Given the description of an element on the screen output the (x, y) to click on. 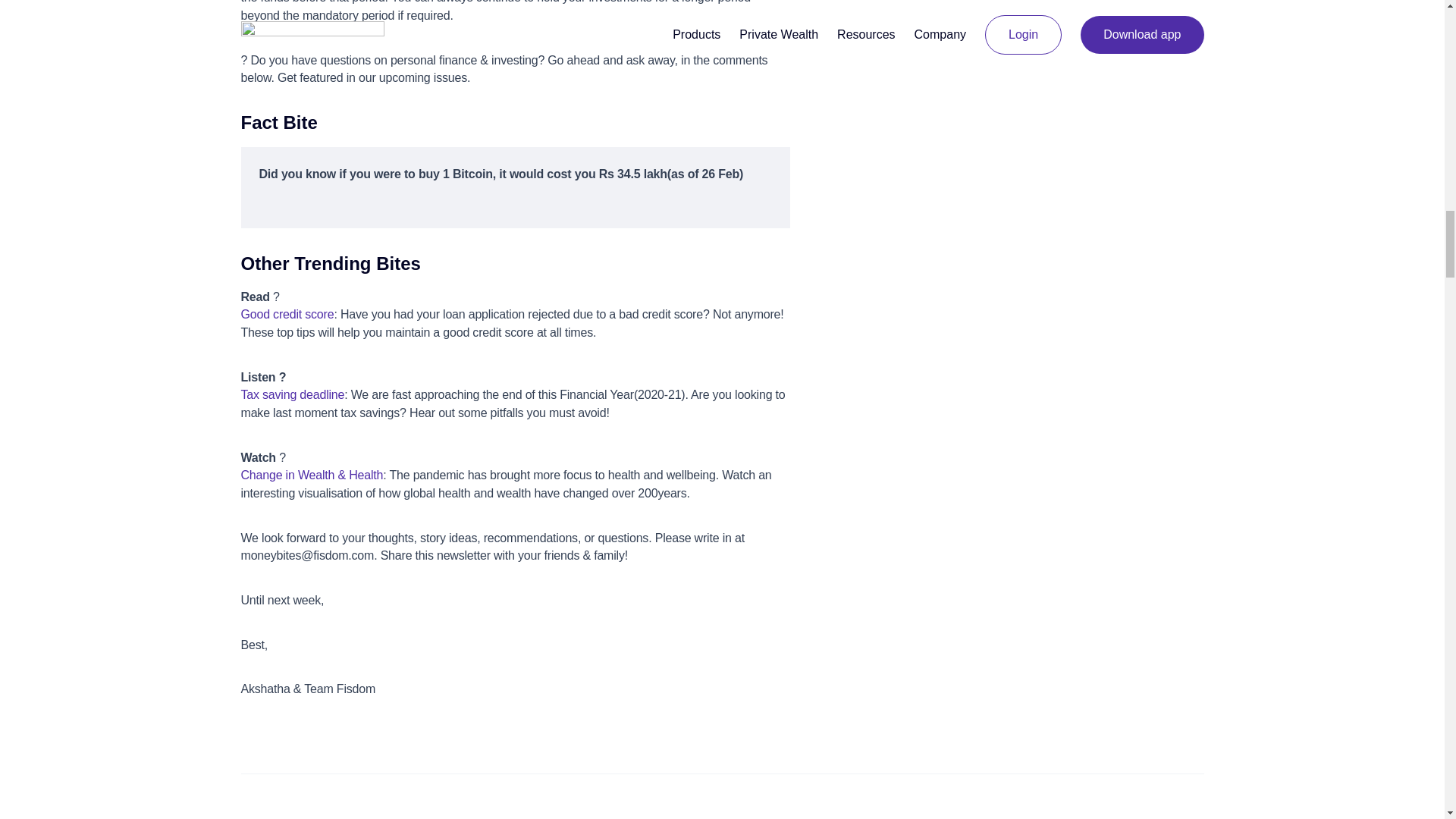
Tax saving deadline (293, 394)
Good credit score (287, 314)
